Given the description of an element on the screen output the (x, y) to click on. 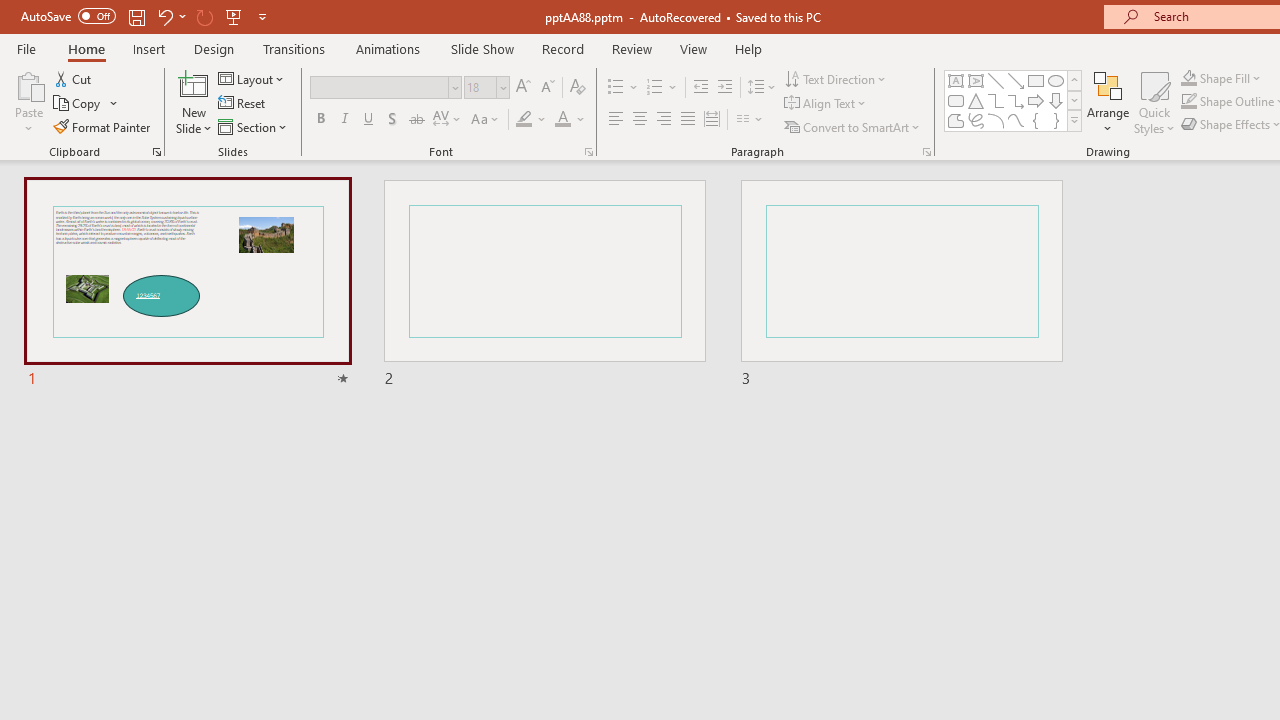
Text Highlight Color Yellow (524, 119)
Cut (73, 78)
Quick Styles (1154, 102)
Line Spacing (762, 87)
Arrow: Right (1035, 100)
Bullets (616, 87)
Class: NetUIImage (1075, 120)
Columns (750, 119)
Transitions (294, 48)
Font Size (486, 87)
Text Direction (836, 78)
New Slide (193, 102)
